Given the description of an element on the screen output the (x, y) to click on. 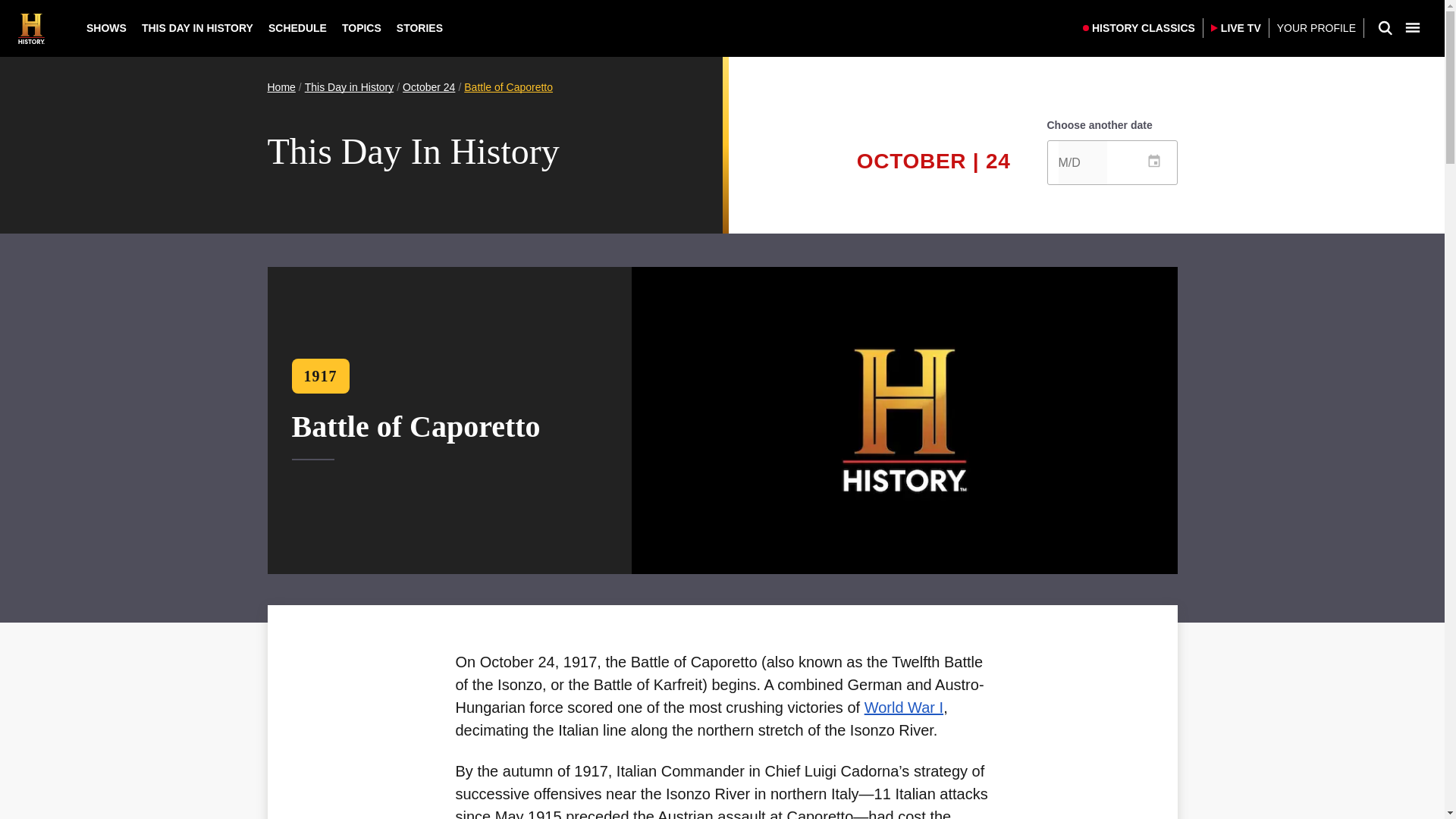
October 24 (428, 87)
HISTORY CLASSICS (1138, 28)
TOPICS (361, 28)
SCHEDULE (297, 28)
STORIES (418, 28)
SHOWS (105, 28)
This Day in History (348, 87)
Home (280, 87)
LIVE TV (1236, 28)
THIS DAY IN HISTORY (196, 28)
YOUR PROFILE (1315, 28)
